Given the description of an element on the screen output the (x, y) to click on. 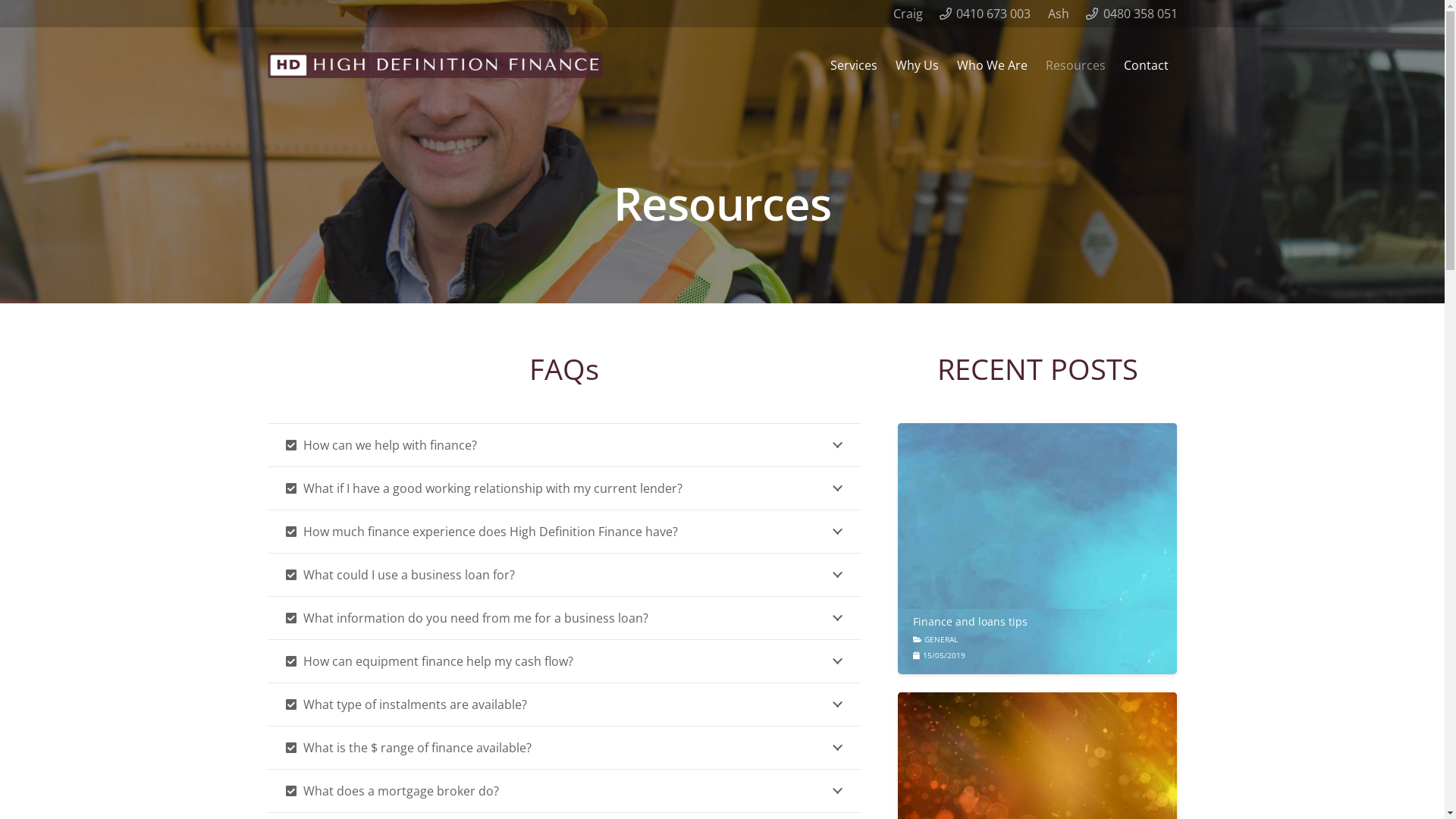
What is the $ range of finance available? Element type: text (563, 747)
How can equipment finance help my cash flow? Element type: text (563, 661)
How can we help with finance? Element type: text (563, 444)
Services Element type: text (852, 65)
What type of instalments are available? Element type: text (563, 704)
What could I use a business loan for? Element type: text (563, 574)
What information do you need from me for a business loan? Element type: text (563, 617)
Contact Element type: text (1145, 65)
Craig Element type: text (907, 13)
Ash Element type: text (1058, 13)
Finance and loans tips Element type: text (970, 621)
GENERAL Element type: text (940, 638)
Why Us Element type: text (916, 65)
What does a mortgage broker do? Element type: text (563, 790)
Resources Element type: text (1074, 65)
Who We Are Element type: text (991, 65)
